Given the description of an element on the screen output the (x, y) to click on. 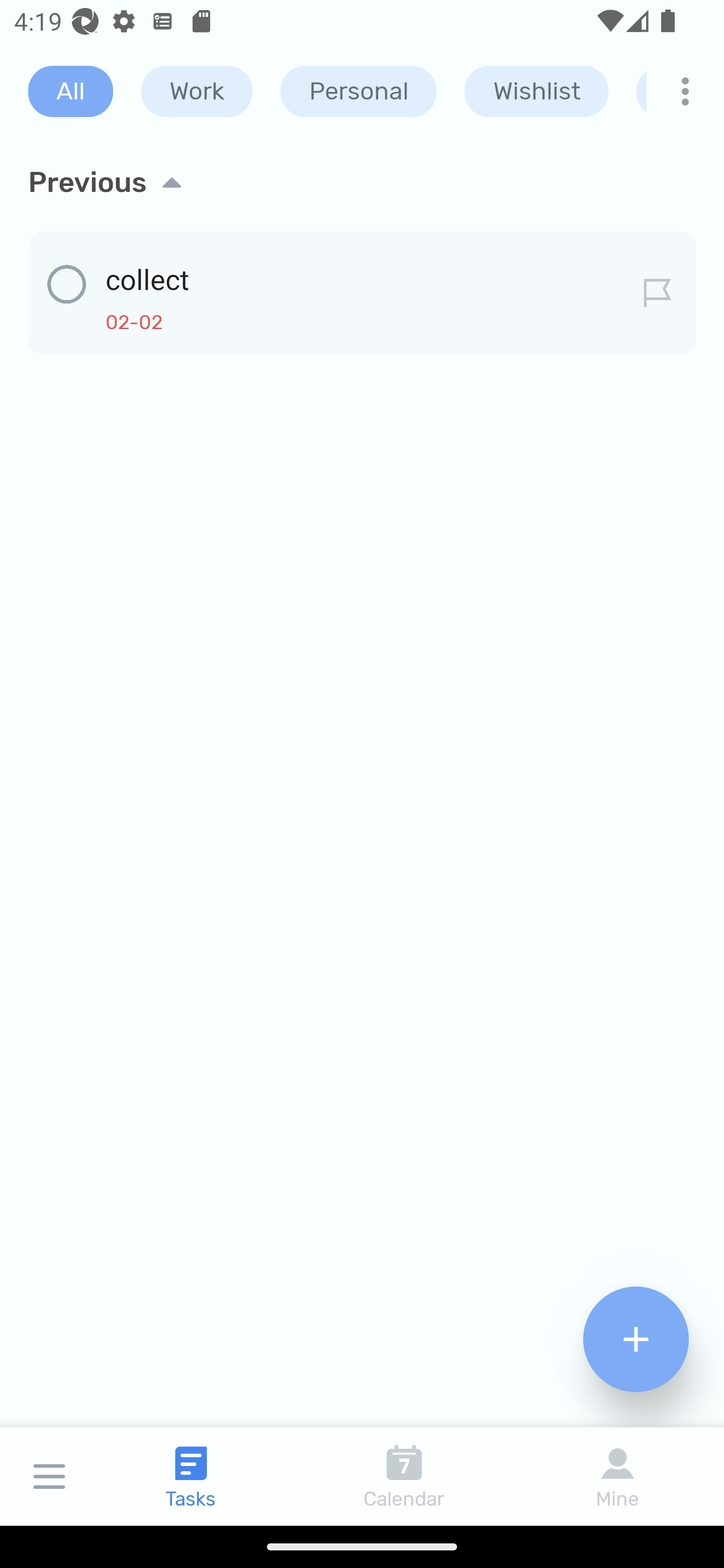
All (70, 91)
Work (196, 91)
Personal (358, 91)
Wishlist (536, 91)
Previous (362, 182)
collect 02-02 (362, 289)
Tasks (190, 1475)
Calendar (404, 1475)
Mine (617, 1475)
